Given the description of an element on the screen output the (x, y) to click on. 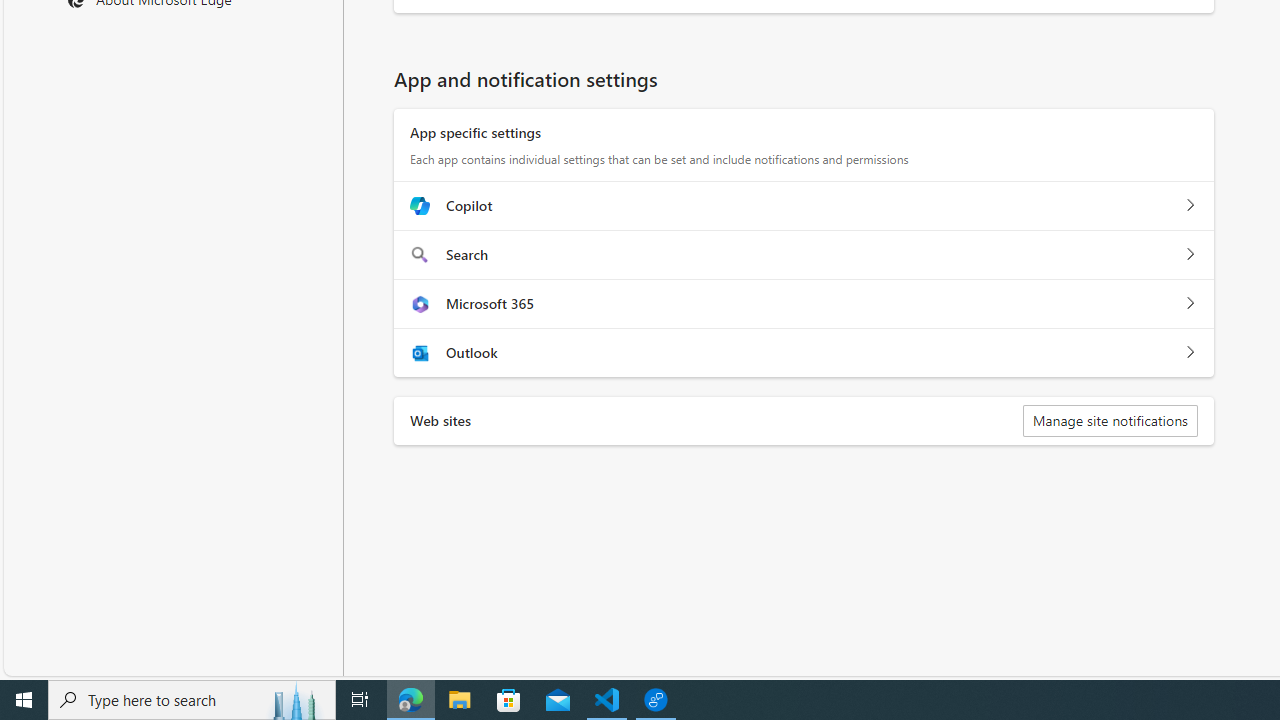
Outlook (1190, 352)
Copilot (1190, 205)
Manage site notifications (1109, 420)
